Given the description of an element on the screen output the (x, y) to click on. 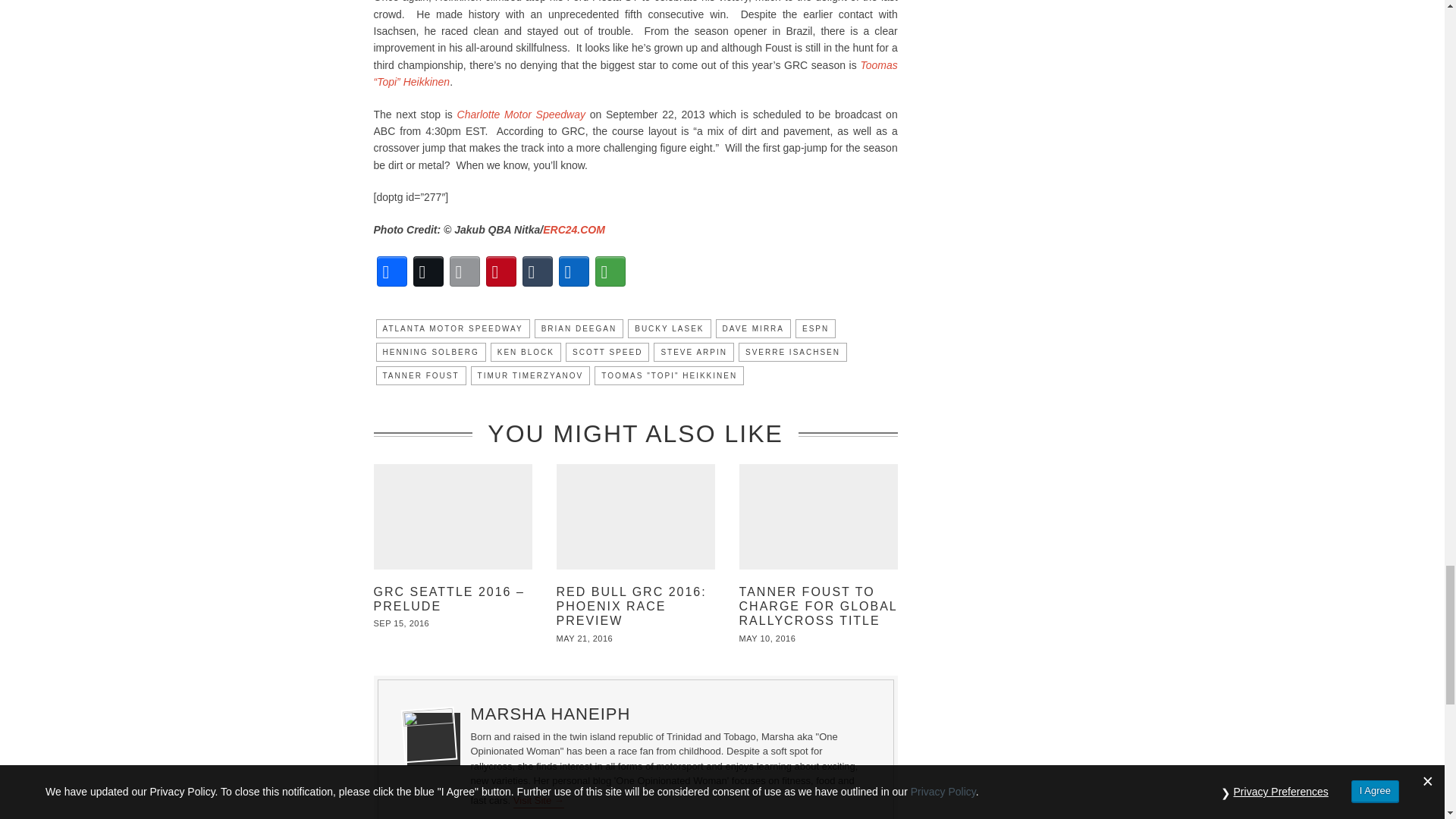
Pinterest (499, 271)
More Options (609, 271)
Tumblr (536, 271)
May 21, 2016 (584, 637)
LinkedIn (572, 271)
Email This (463, 271)
Facebook (390, 271)
May 10, 2016 (767, 637)
